Given the description of an element on the screen output the (x, y) to click on. 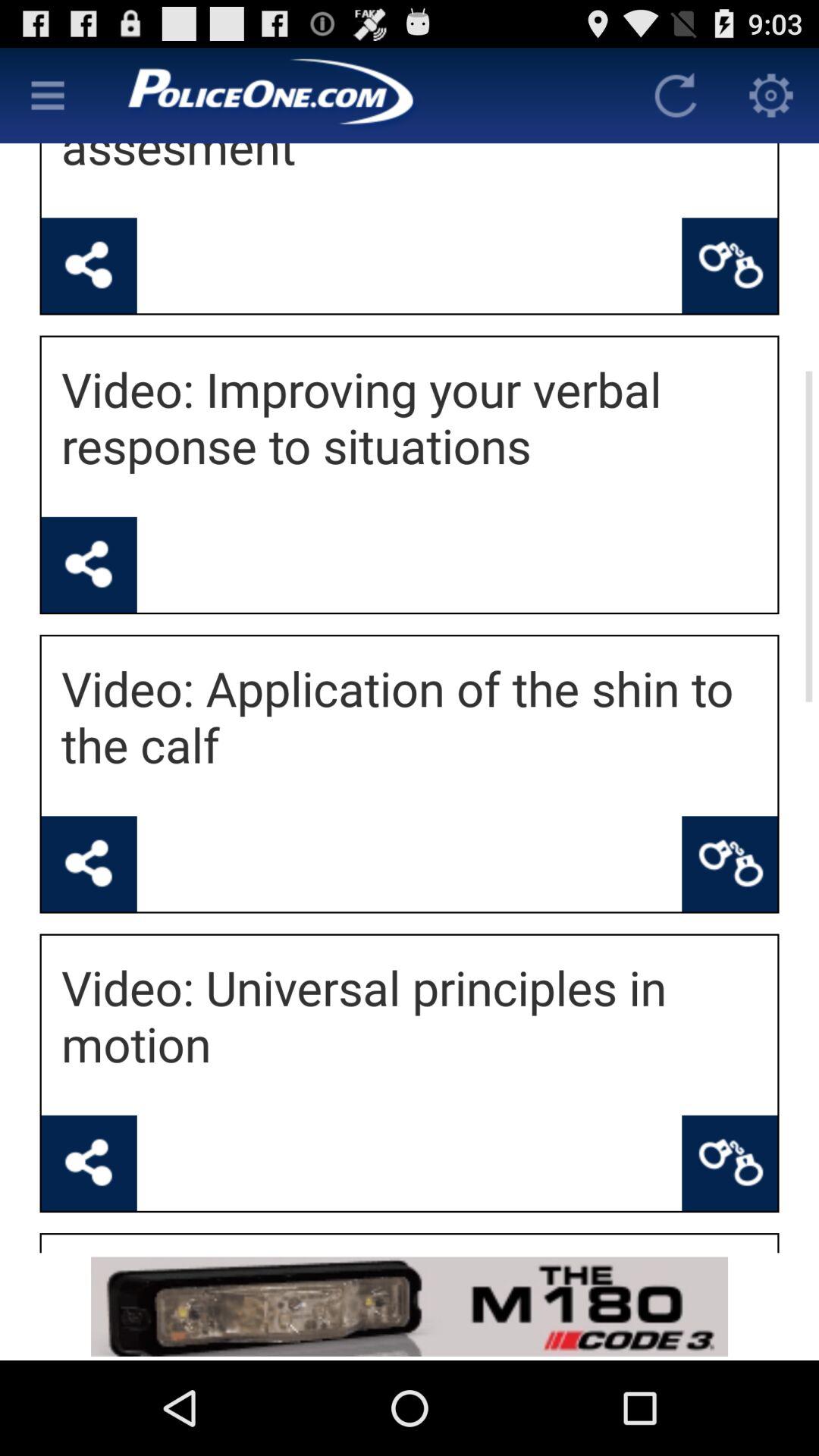
view settings (771, 95)
